Given the description of an element on the screen output the (x, y) to click on. 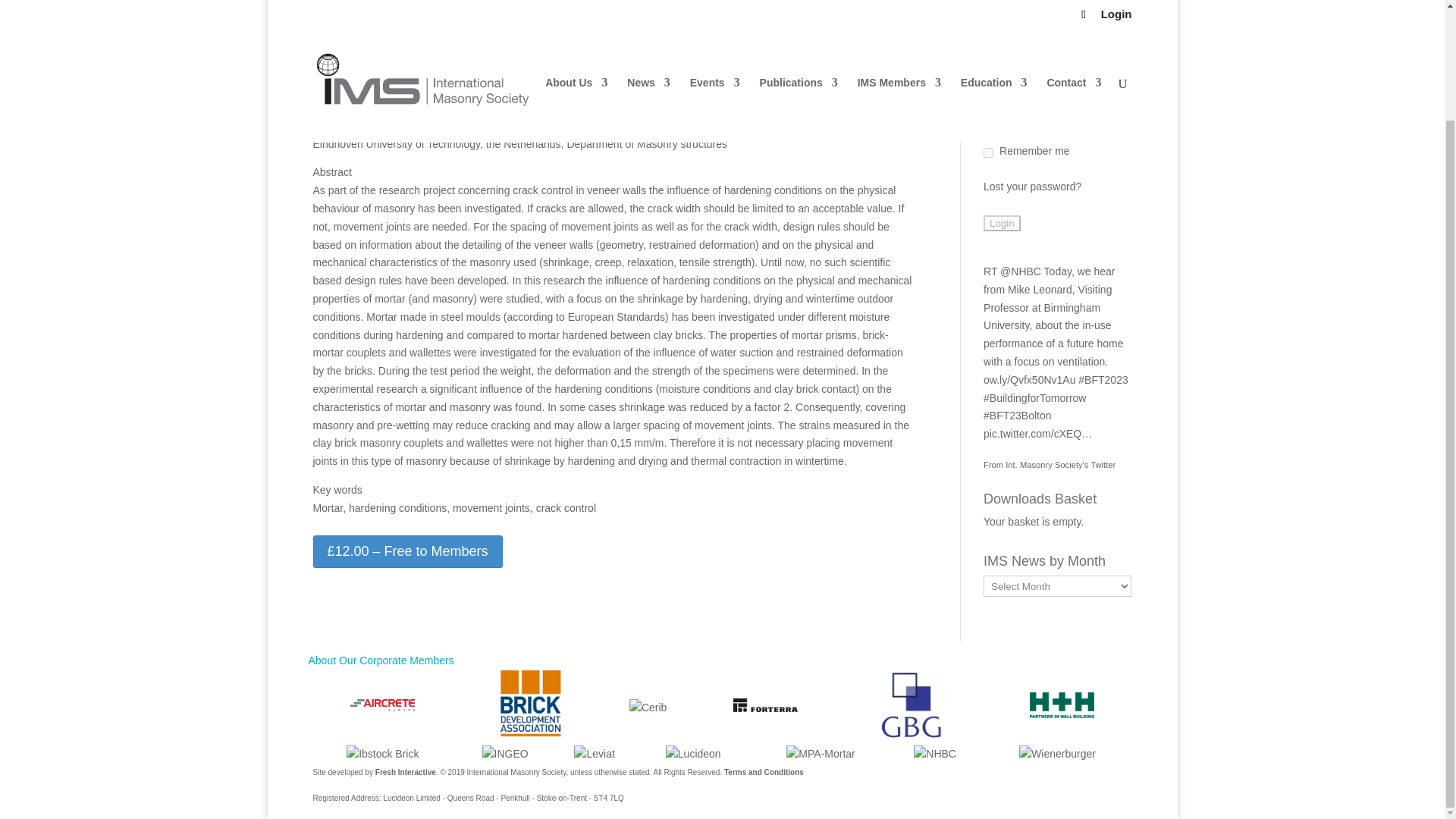
Login (1002, 208)
Lost your password? (1032, 172)
Int. Masonry Society (1060, 450)
1 (988, 138)
Login (1002, 208)
NHBC (1020, 256)
